Given the description of an element on the screen output the (x, y) to click on. 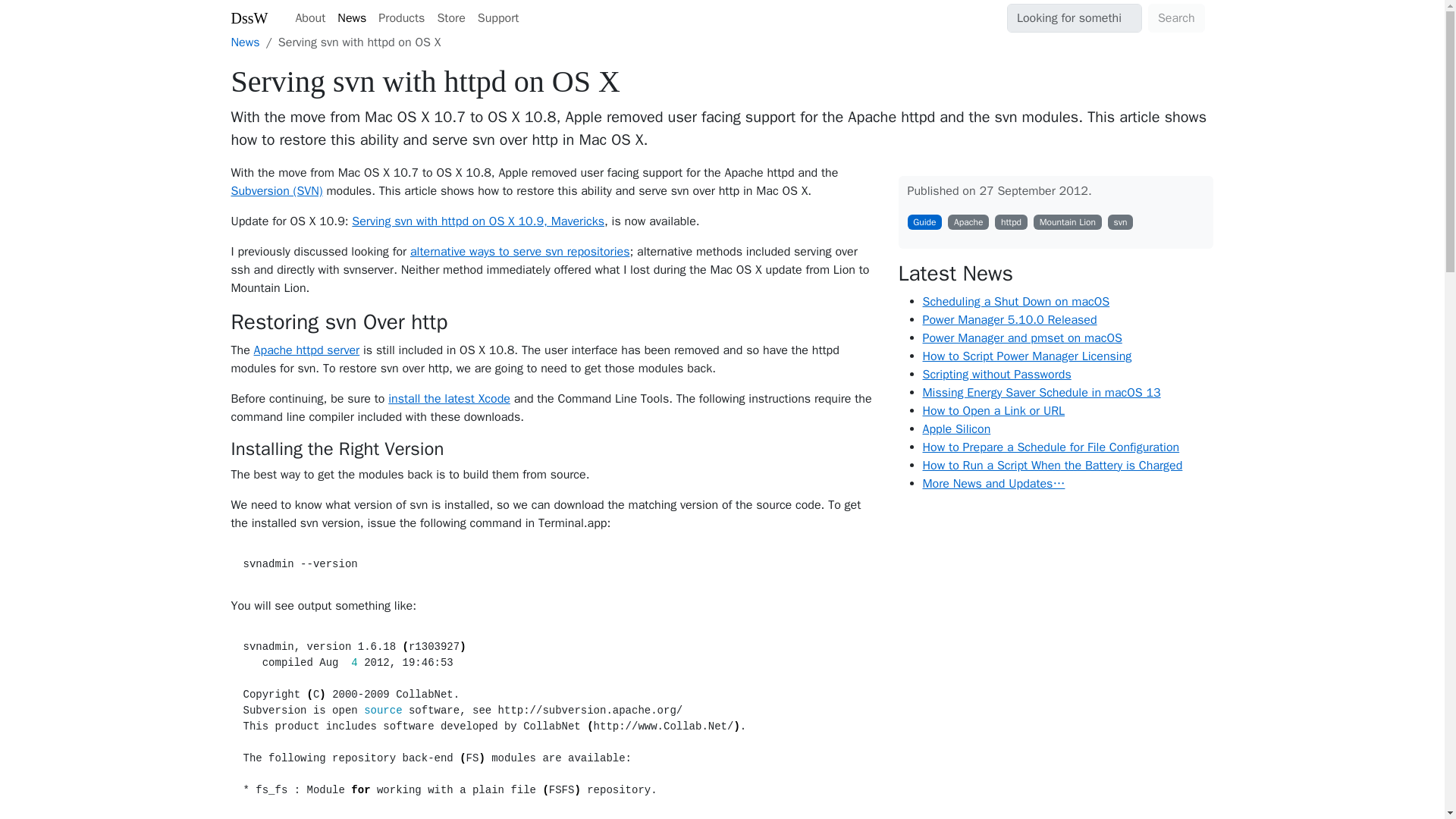
Scripting without Passwords (995, 374)
Missing Energy Saver Schedule in macOS 13 (1040, 392)
How to Prepare a Schedule for File Configuration (1050, 447)
Scripting without Passwords (995, 374)
How to Script Power Manager Licensing (1026, 355)
News (244, 42)
About (309, 18)
Serving svn with httpd on OS X 10.9 (478, 221)
Missing Energy Saver Schedule in macOS 13 (1040, 392)
Products (401, 18)
How to Open a Link or URL (992, 410)
How to Prepare a Schedule for File Configuration (1050, 447)
alternative ways to serve svn repositories (519, 251)
Support (498, 18)
Apache httpd server (306, 350)
